Given the description of an element on the screen output the (x, y) to click on. 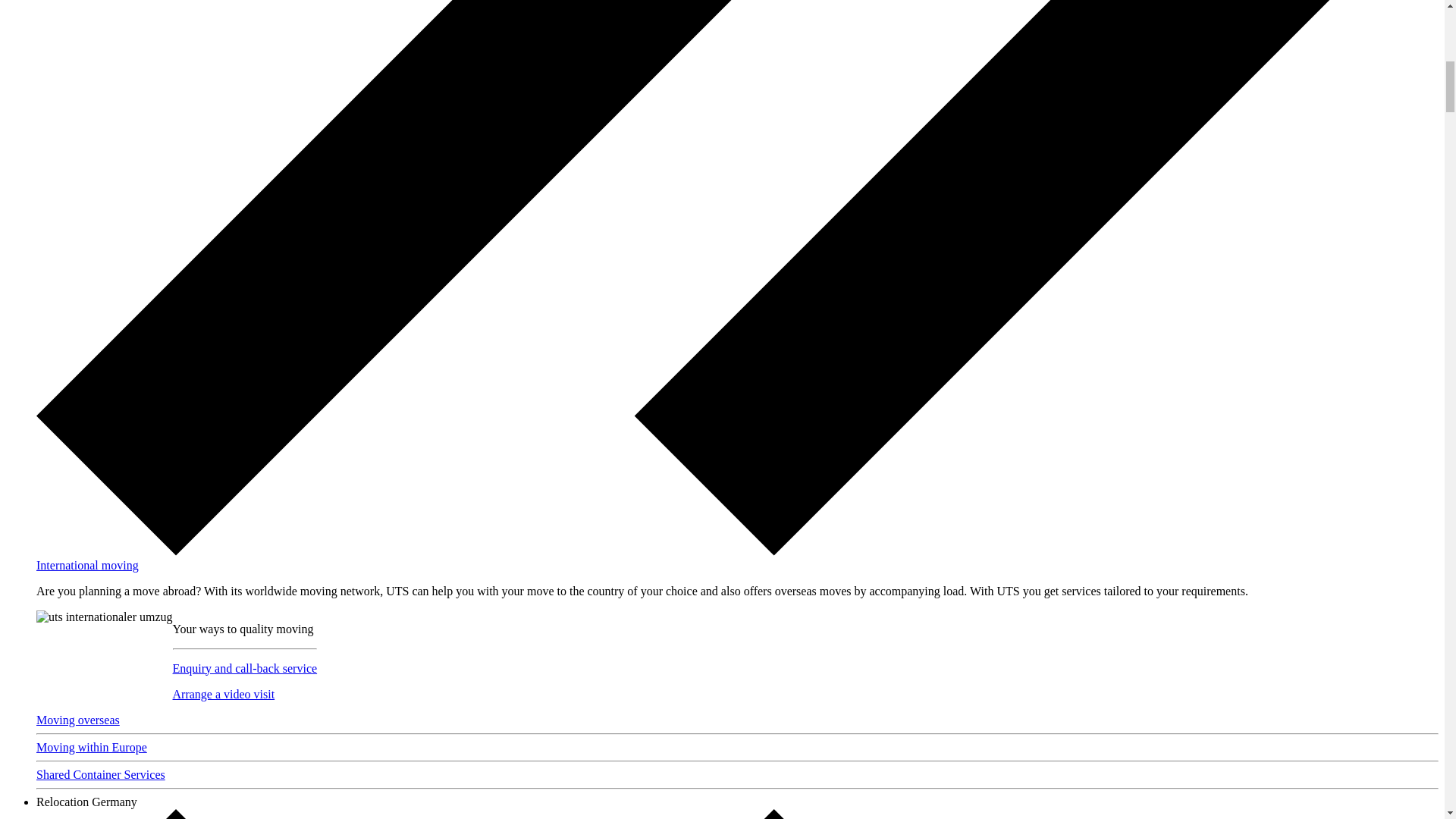
Shared Container Services (100, 774)
Moving overseas (77, 719)
Enquiry and call-back service (245, 667)
Moving within Europe (91, 747)
Moving within Europe (91, 747)
Shared Container Services (100, 774)
Relocation Germany (86, 801)
uts internationaler umzug (104, 617)
Arrange a video visit (224, 694)
Moving overseas (77, 719)
